Given the description of an element on the screen output the (x, y) to click on. 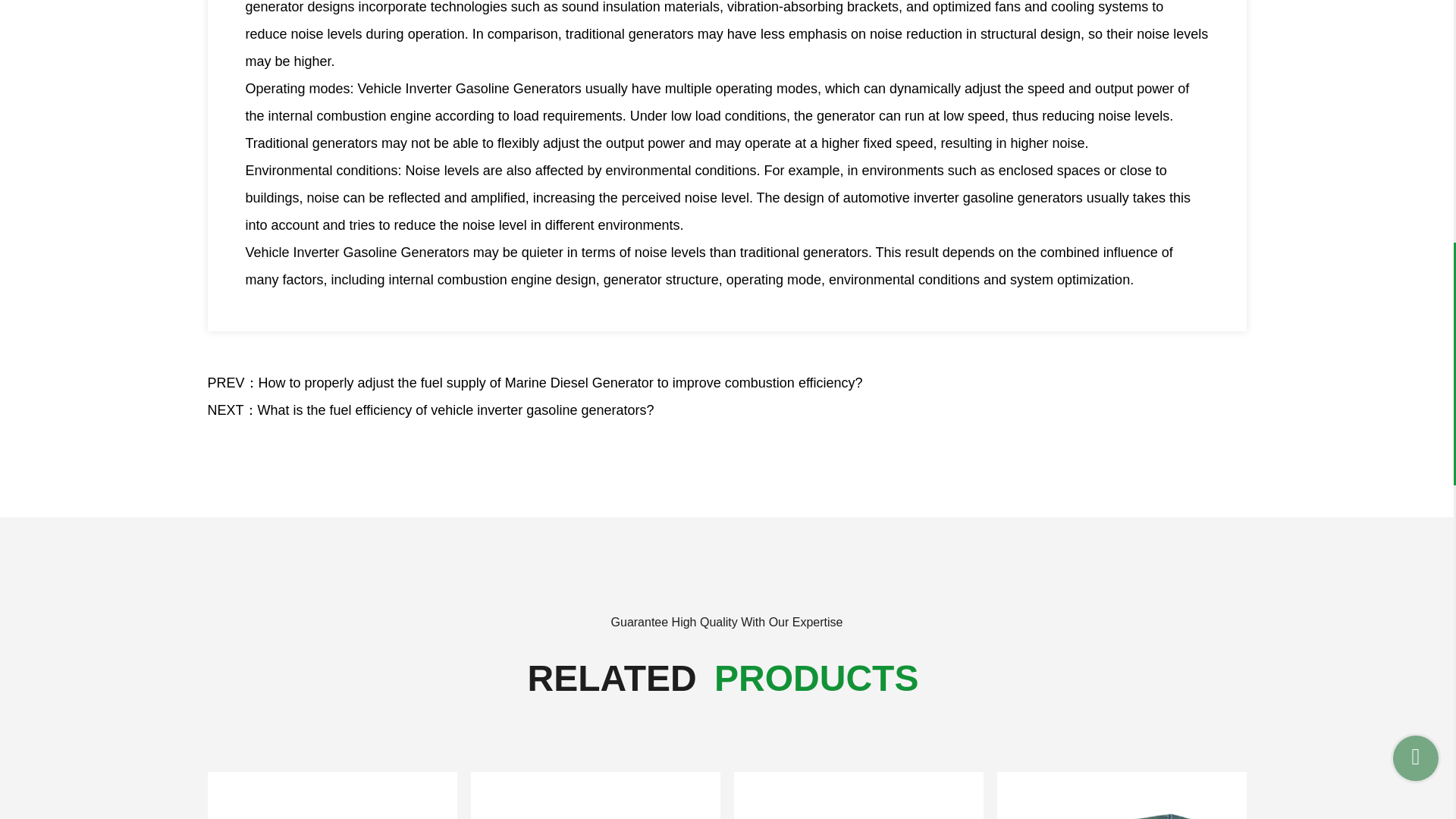
H-GV 5000i Small Diesel Engines Generators for Trucks (1120, 795)
HSD4000iS Super Silent Vehicle Portable Gasoline Generator (332, 795)
HSD8000iS Vehicle Small Inverter Gasoline Generators for rv (858, 795)
